Given the description of an element on the screen output the (x, y) to click on. 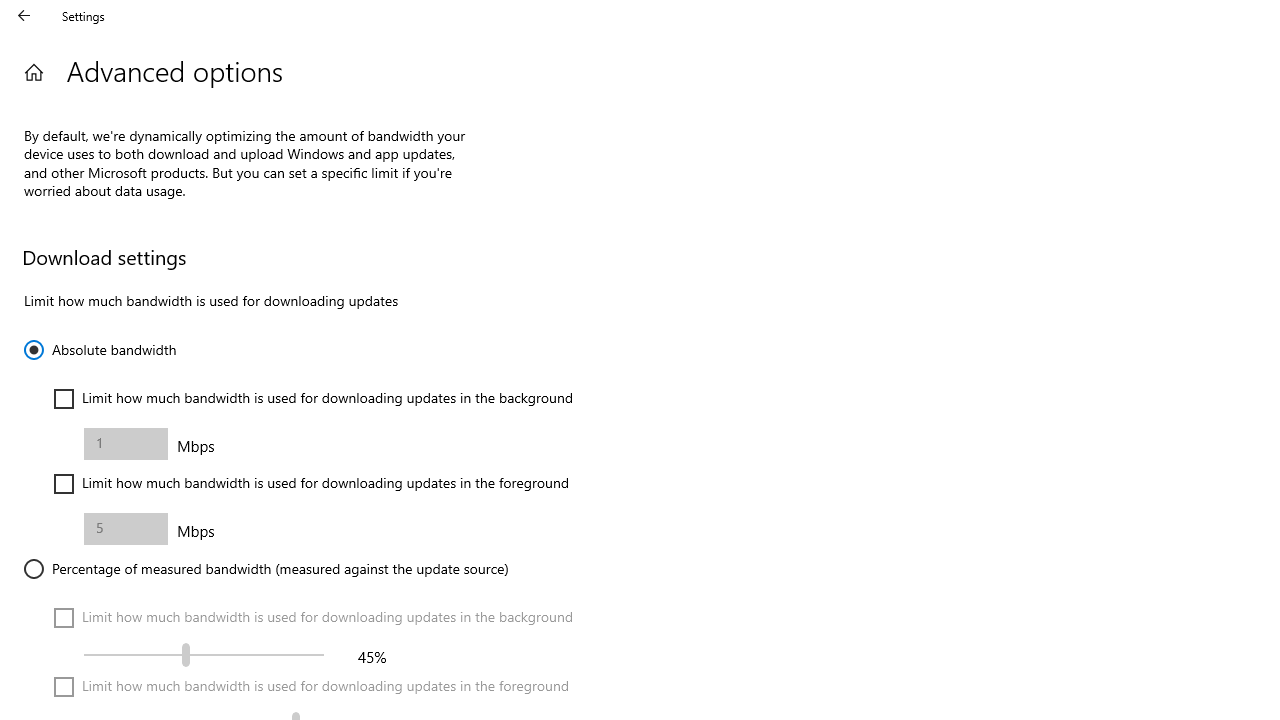
Absolute bandwidth (100, 349)
Absolute foreground bandwidth (125, 528)
Absolute background bandwidth (125, 443)
